Given the description of an element on the screen output the (x, y) to click on. 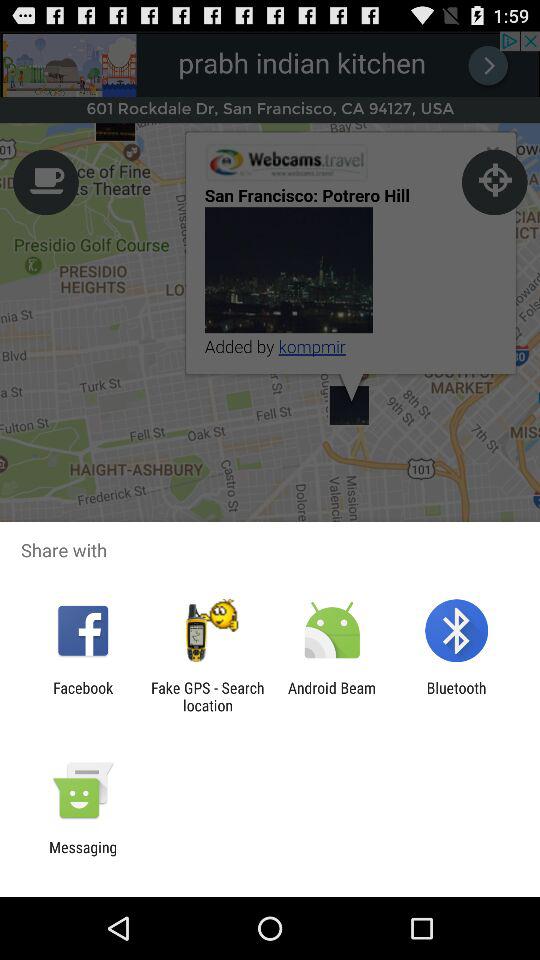
turn on item next to the facebook app (207, 696)
